Given the description of an element on the screen output the (x, y) to click on. 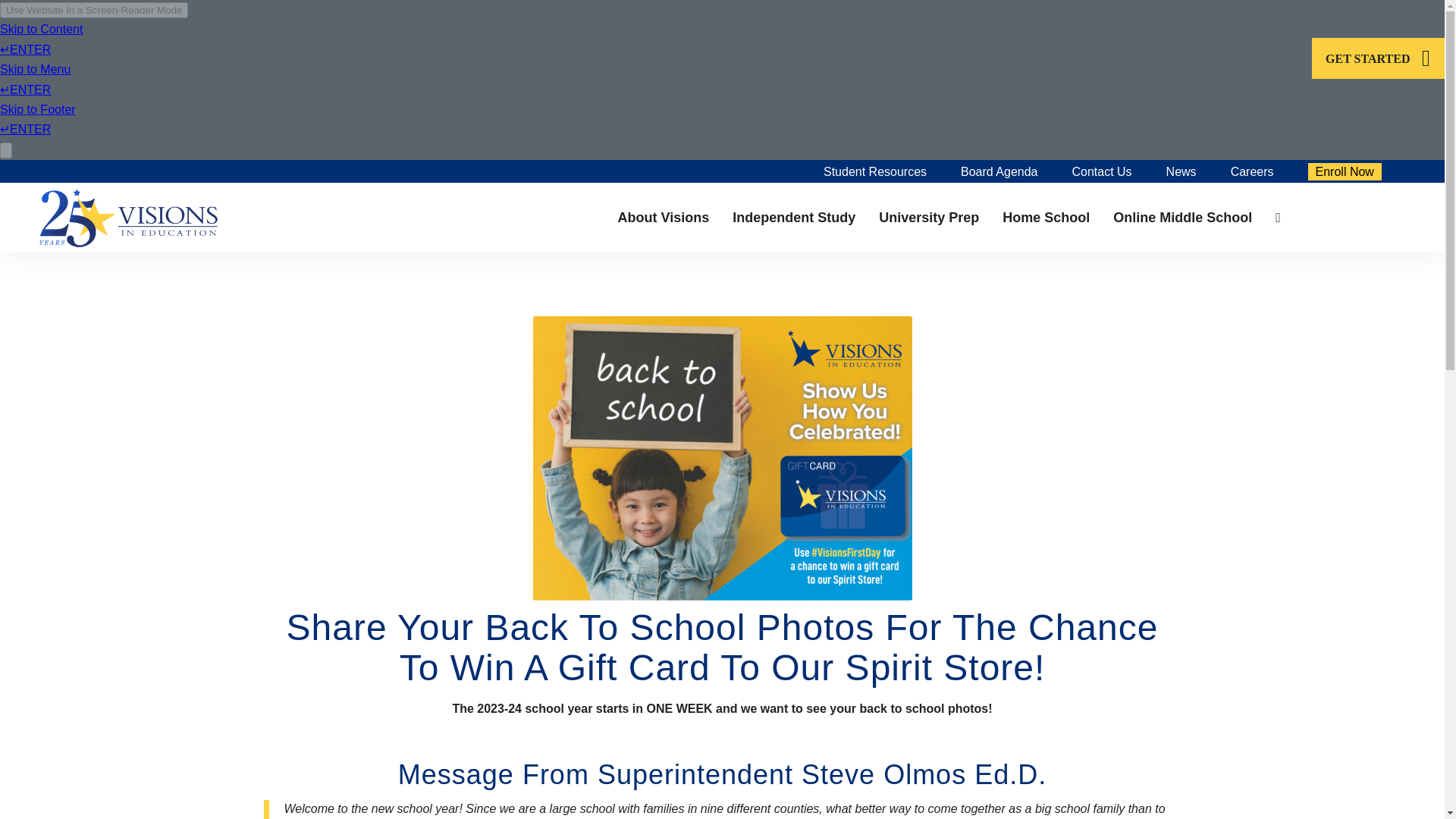
University Prep (928, 217)
BTS web (721, 458)
Contact Us (1101, 171)
News (1181, 171)
Student Resources (875, 171)
Home School (1045, 217)
Careers (1252, 171)
About Visions (663, 217)
Independent Study (793, 217)
Enroll Now (1344, 171)
Visions 25th Anniversary Logo (128, 217)
Board Agenda (998, 171)
